Given the description of an element on the screen output the (x, y) to click on. 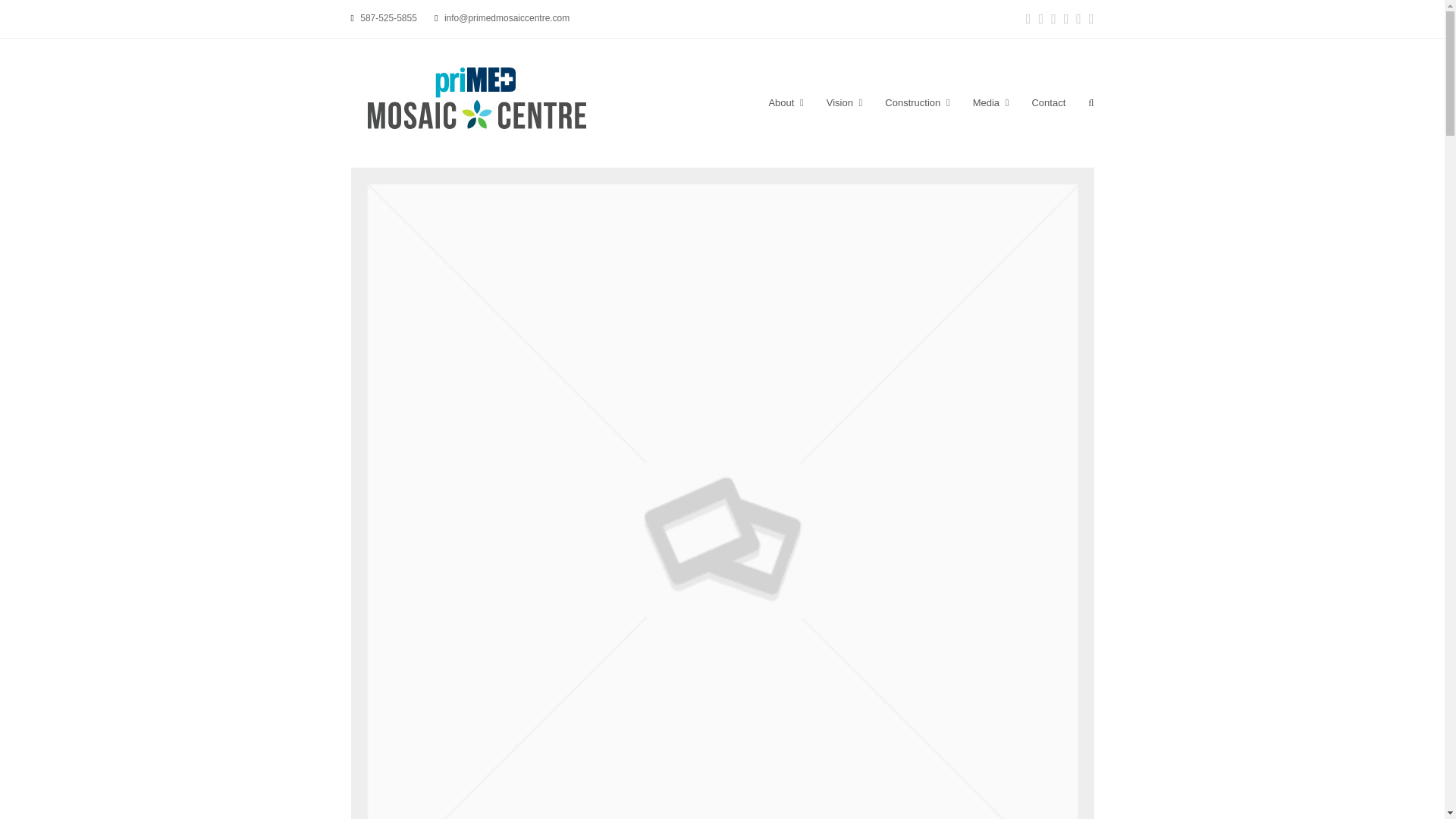
About (785, 103)
Construction (916, 103)
Vision (845, 103)
